Given the description of an element on the screen output the (x, y) to click on. 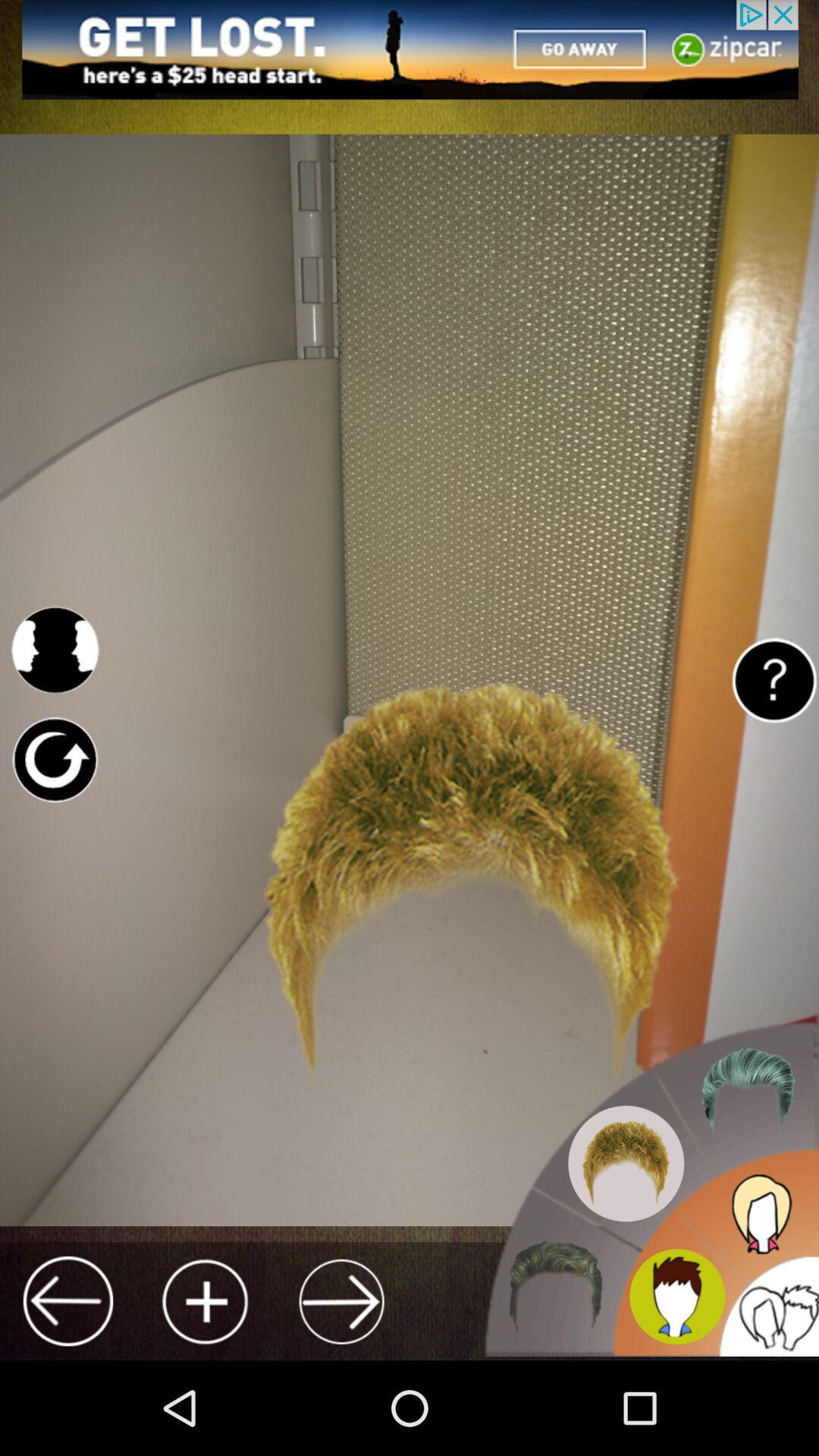
advertisement link (409, 49)
